Given the description of an element on the screen output the (x, y) to click on. 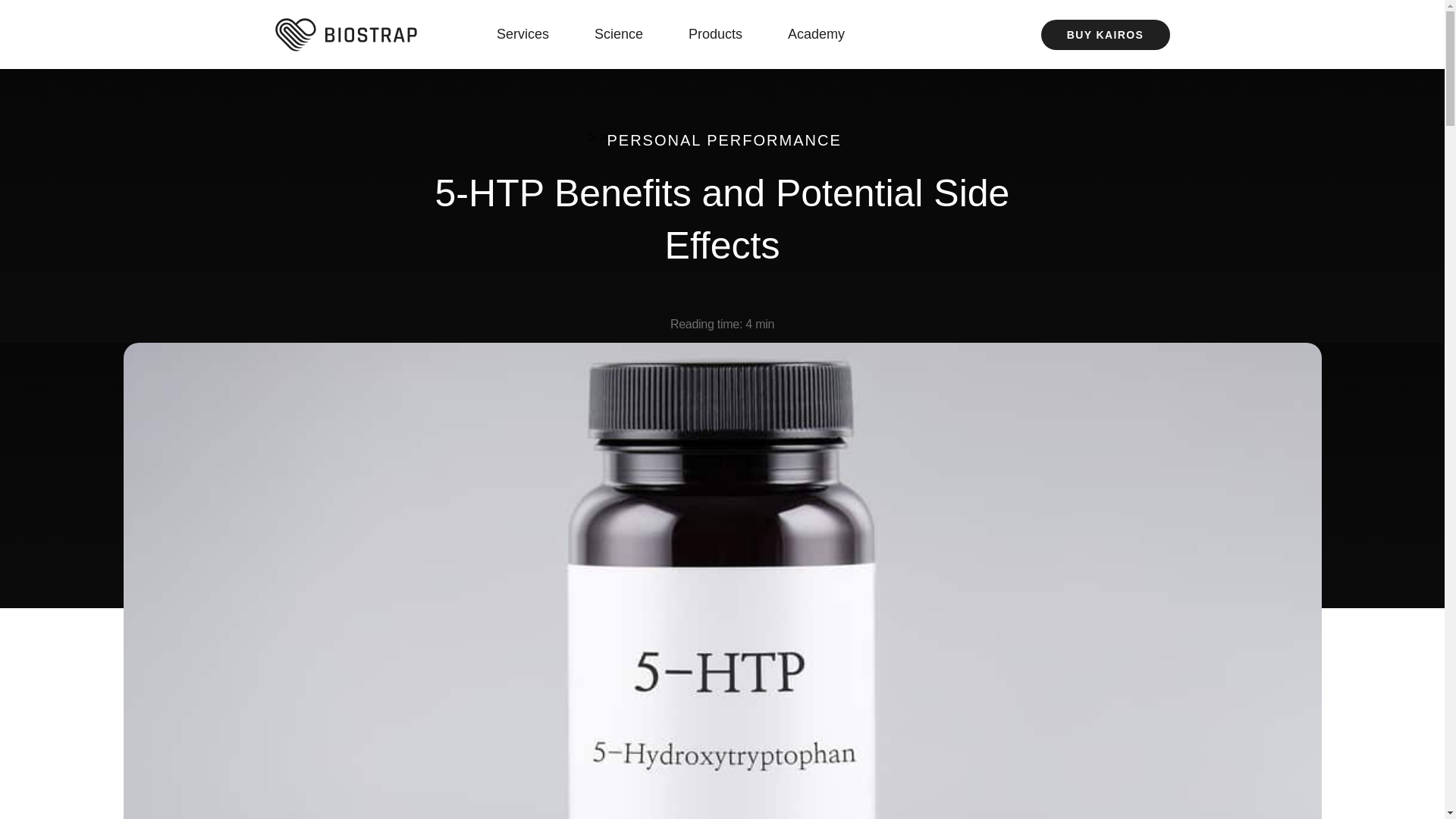
Science (626, 34)
Services (530, 34)
BUY KAIROS (1105, 34)
Products (722, 34)
Academy (823, 34)
